Given the description of an element on the screen output the (x, y) to click on. 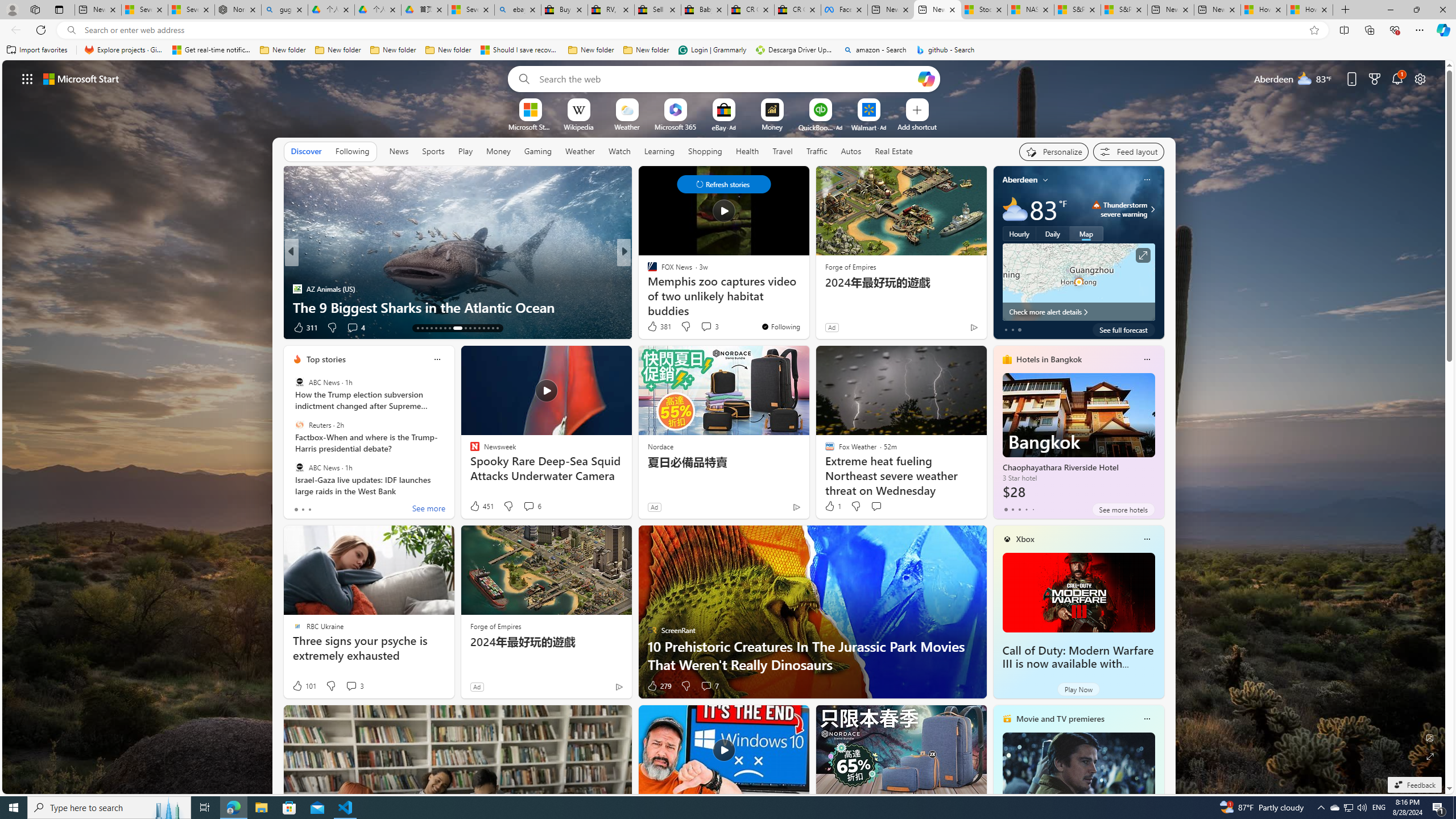
How to Use a Monitor With Your Closed Laptop (1309, 9)
View comments 6 Comment (528, 505)
See full forecast (1123, 329)
Ad Choice (619, 686)
Traffic (816, 151)
1 Like (831, 505)
AutomationID: tab-18 (440, 328)
Start the conversation (876, 505)
Mostly cloudy (1014, 208)
honeymallow (647, 288)
AutomationID: tab-20 (449, 328)
Hotels in Bangkok (1048, 359)
View comments 2 Comment (698, 327)
451 Like (480, 505)
Class: icon-img (1146, 718)
